Given the description of an element on the screen output the (x, y) to click on. 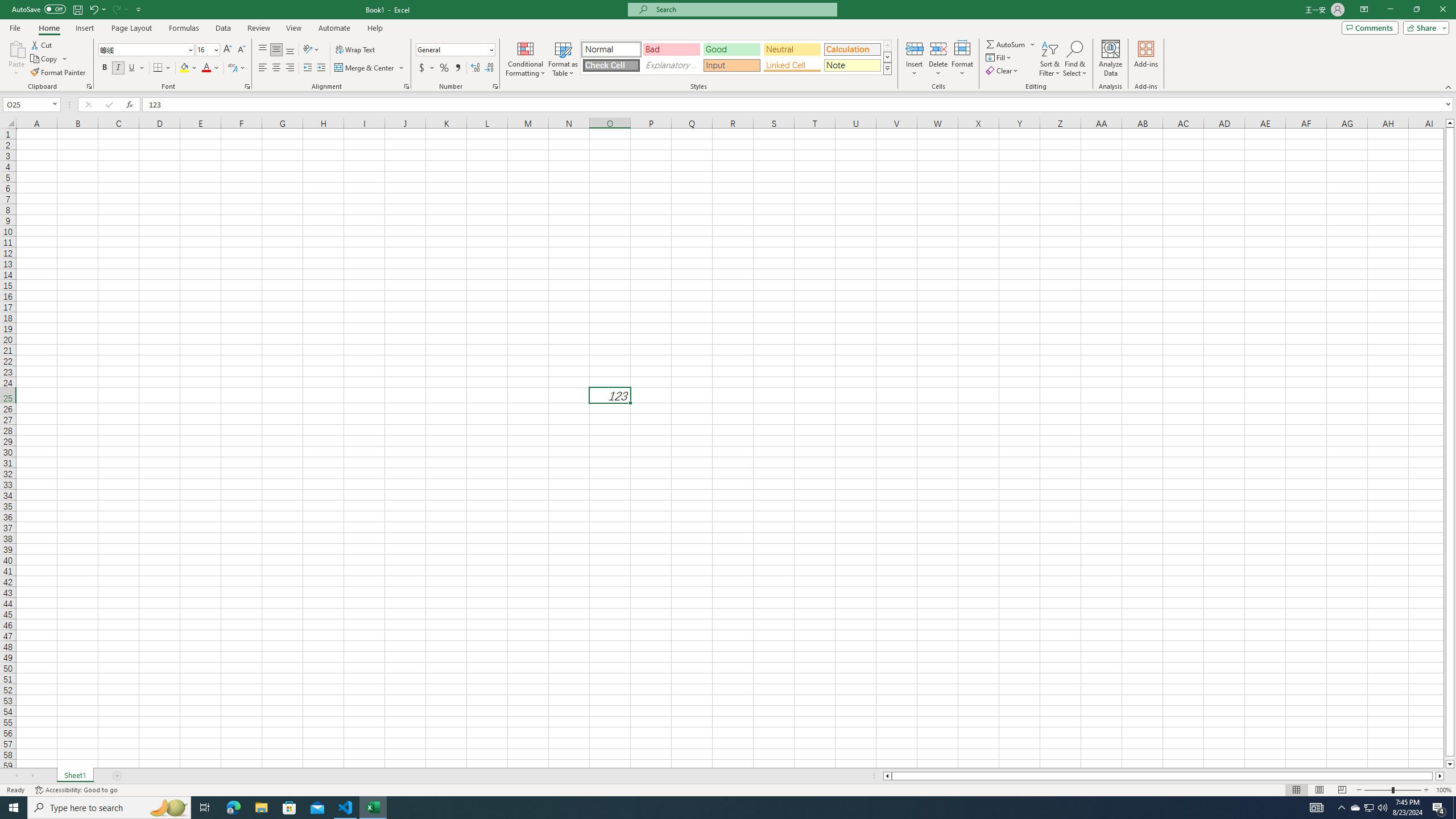
Formulas (184, 28)
Format as Table (563, 58)
Minimize (1390, 9)
Office Clipboard... (88, 85)
Increase Font Size (227, 49)
Sum (1006, 44)
Home (48, 28)
Format Cell Font (247, 85)
Page Layout (131, 28)
Note (852, 65)
Orientation (311, 49)
Increase Decimal (474, 67)
Number Format (455, 49)
Class: MsoCommandBar (728, 45)
Explanatory Text (671, 65)
